Given the description of an element on the screen output the (x, y) to click on. 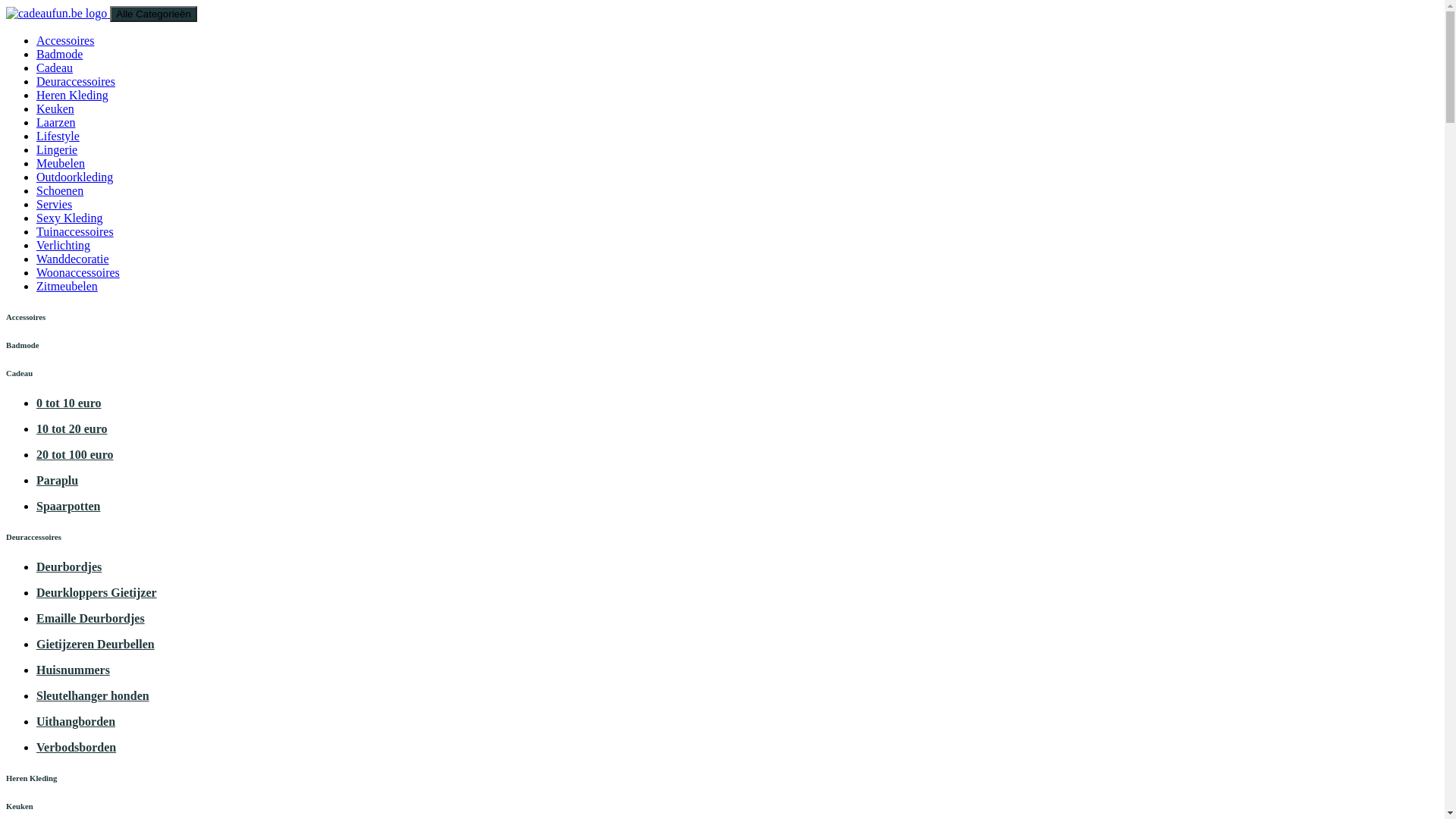
Badmode Element type: text (59, 53)
Cadeau Element type: text (54, 67)
Sleutelhanger honden Element type: text (92, 695)
Laarzen Element type: text (55, 122)
Huisnummers Element type: text (72, 669)
Meubelen Element type: text (60, 162)
Heren Kleding Element type: text (72, 94)
Paraplu Element type: text (57, 479)
Wanddecoratie Element type: text (72, 258)
Verbodsborden Element type: text (76, 746)
20 tot 100 euro Element type: text (74, 454)
Deurbordjes Element type: text (68, 566)
Terug naar cadeaufun.be home Element type: hover (57, 12)
Servies Element type: text (54, 203)
Spaarpotten Element type: text (68, 505)
Uithangborden Element type: text (75, 721)
Outdoorkleding Element type: text (74, 176)
Emaille Deurbordjes Element type: text (90, 617)
Lifestyle Element type: text (57, 135)
Verlichting Element type: text (63, 244)
Accessoires Element type: text (65, 40)
10 tot 20 euro Element type: text (71, 428)
Woonaccessoires Element type: text (77, 272)
Deuraccessoires Element type: text (75, 81)
Schoenen Element type: text (59, 190)
Gietijzeren Deurbellen Element type: text (95, 643)
Keuken Element type: text (55, 108)
Lingerie Element type: text (56, 149)
Tuinaccessoires Element type: text (74, 231)
Deurkloppers Gietijzer Element type: text (96, 592)
Sexy Kleding Element type: text (69, 217)
0 tot 10 euro Element type: text (68, 402)
Zitmeubelen Element type: text (66, 285)
